Given the description of an element on the screen output the (x, y) to click on. 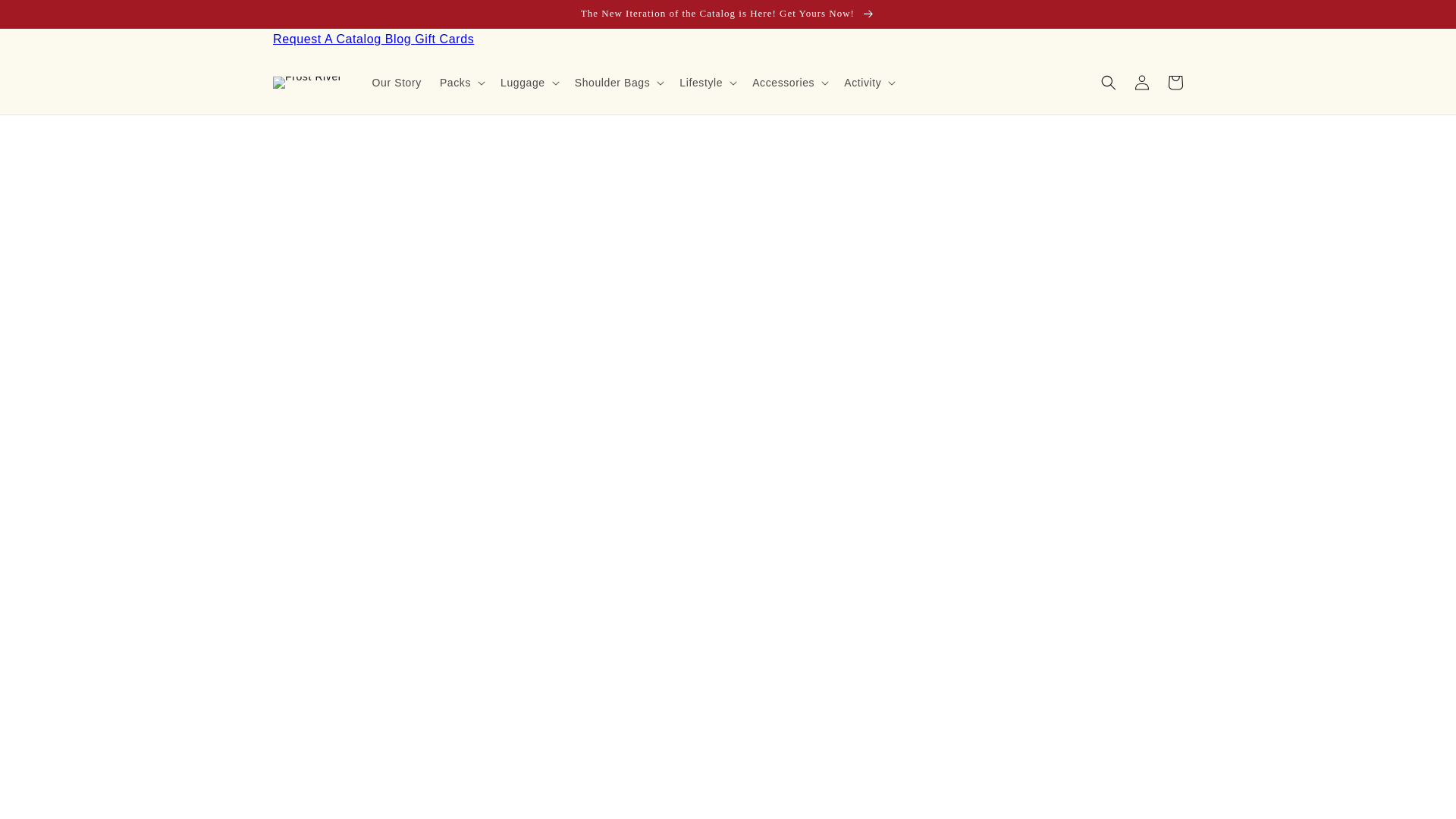
Gift Cards (444, 38)
Request A Catalog (329, 38)
Skip to content (45, 17)
Blog (399, 38)
